Given the description of an element on the screen output the (x, y) to click on. 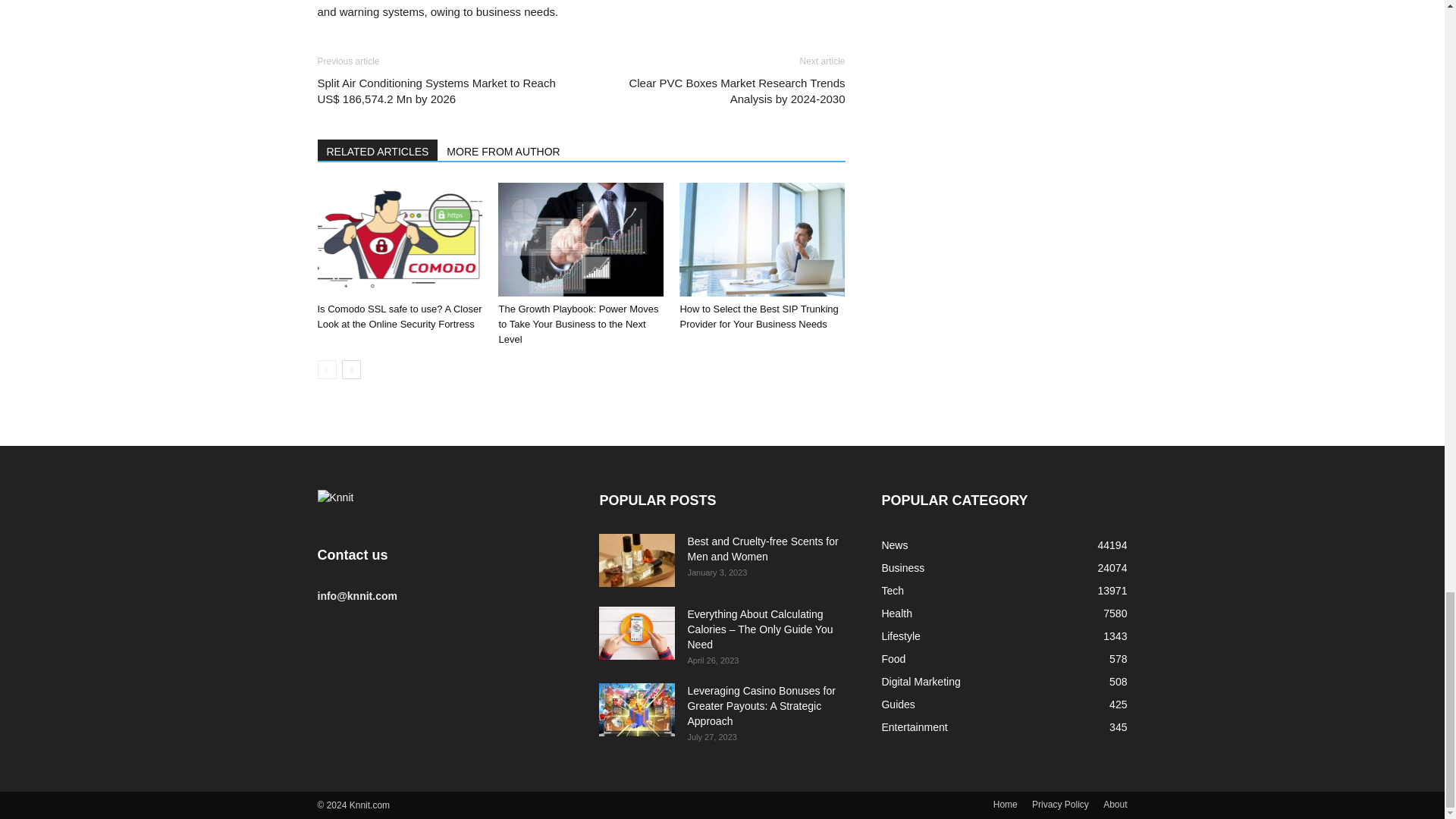
RELATED ARTICLES (377, 149)
MORE FROM AUTHOR (503, 149)
Clear PVC Boxes Market Research Trends Analysis by 2024-2030 (721, 91)
